Given the description of an element on the screen output the (x, y) to click on. 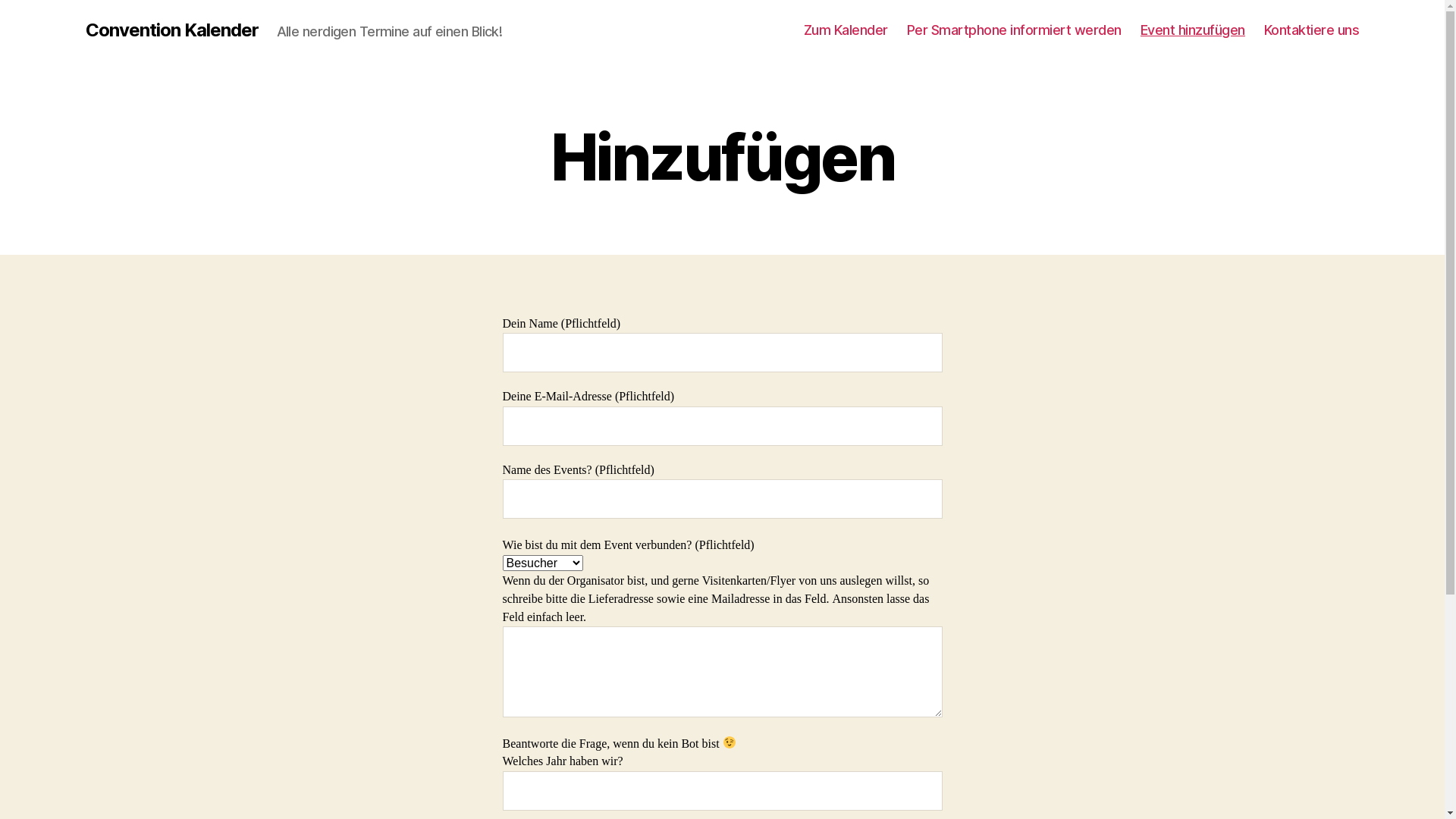
Kontaktiere uns Element type: text (1311, 29)
Per Smartphone informiert werden Element type: text (1013, 29)
Convention Kalender Element type: text (170, 30)
Zum Kalender Element type: text (845, 29)
